Given the description of an element on the screen output the (x, y) to click on. 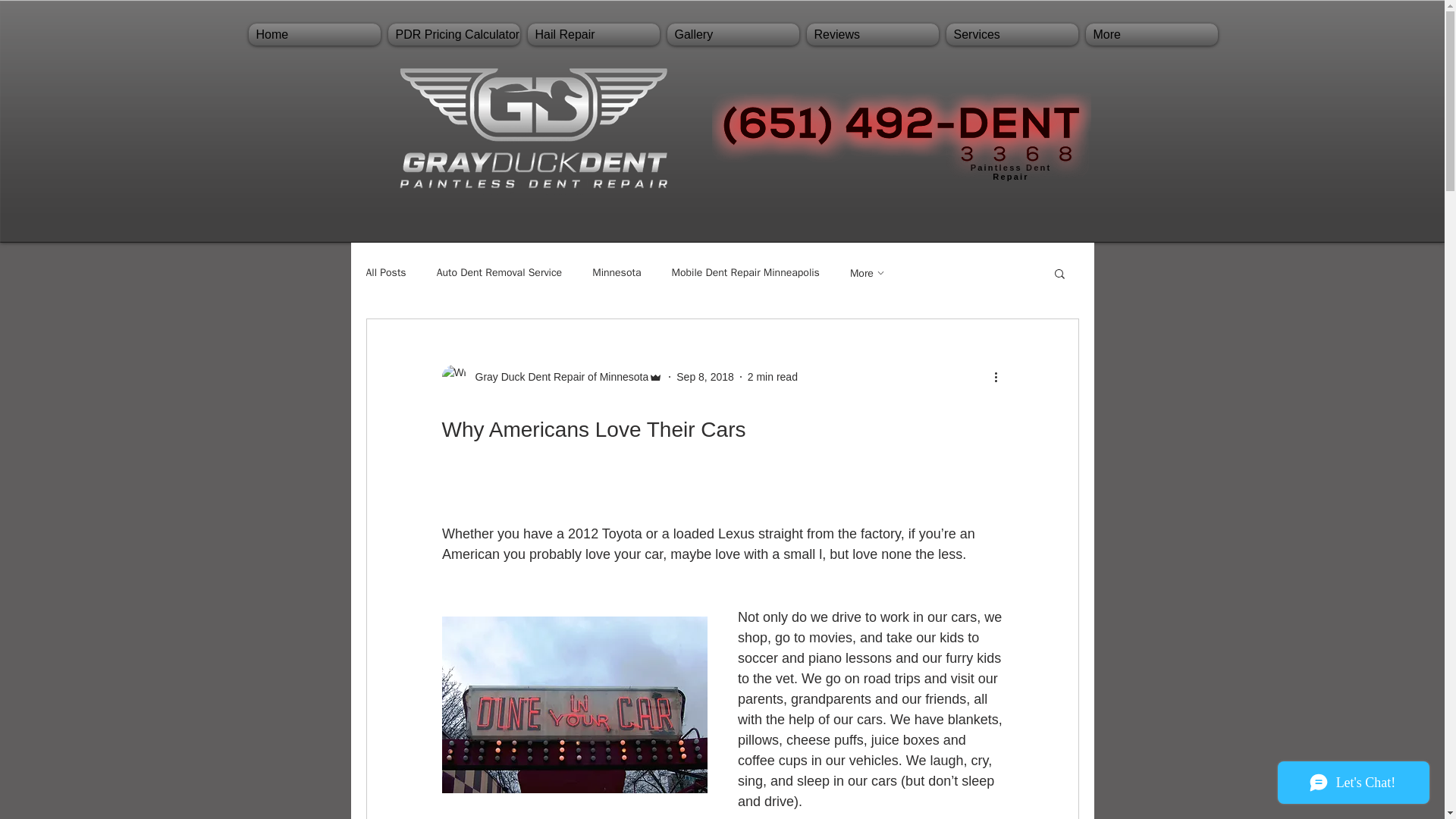
Auto Dent Removal Service (499, 273)
Hail Repair (592, 34)
Gray Duck Dent Repair of Minnesota (556, 376)
Gray Duck Dent Repair of Minnesota (551, 376)
Sep 8, 2018 (705, 376)
Mobile Dent Repair Minneapolis (744, 273)
Minnesota (616, 273)
All Posts (385, 273)
Reviews (872, 34)
Services (1011, 34)
Gallery (732, 34)
Home (314, 34)
2 min read (772, 376)
PDR Pricing Calculator (453, 34)
Paintless Dent Repair (1011, 171)
